Given the description of an element on the screen output the (x, y) to click on. 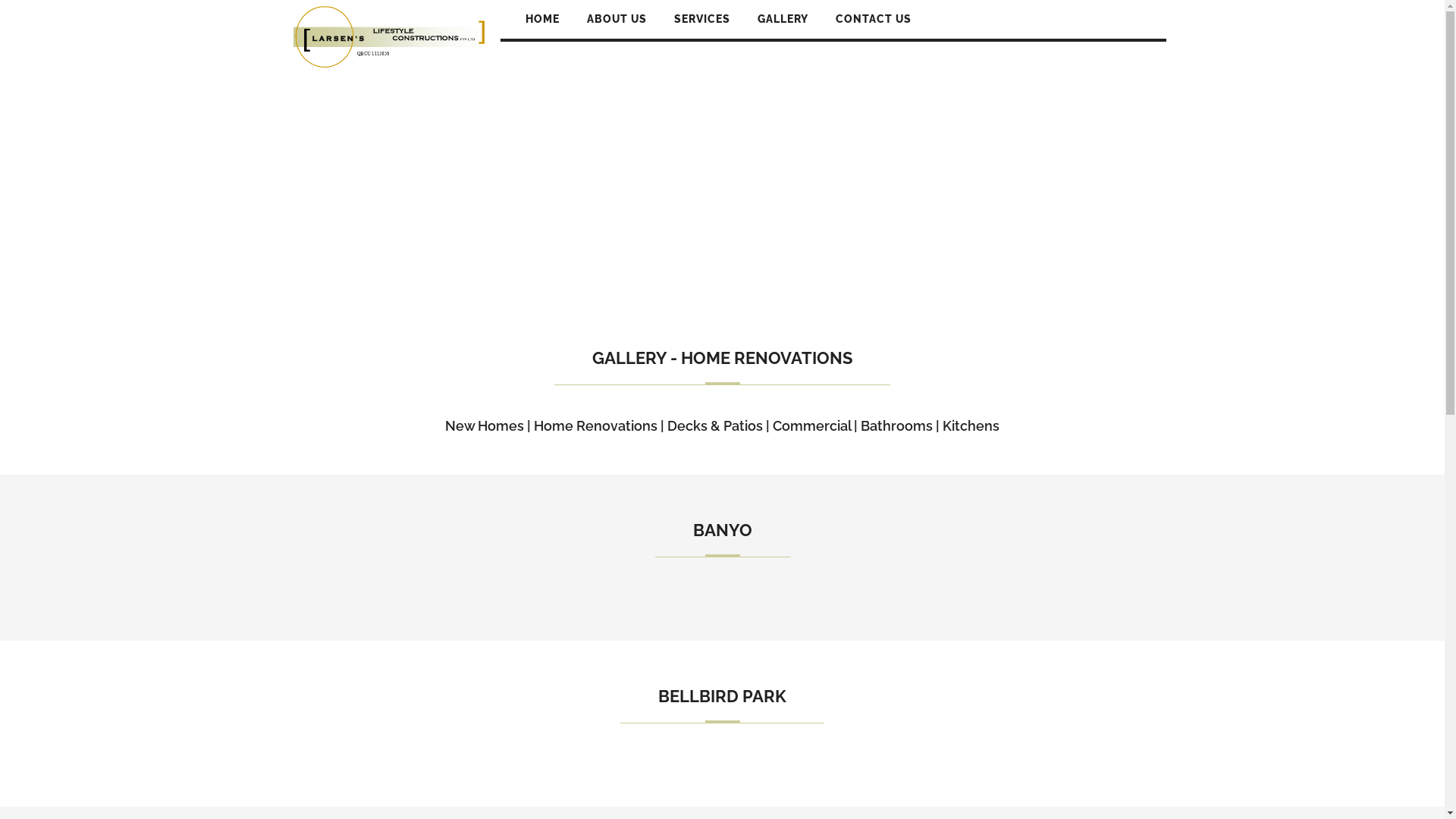
Bathrooms Element type: text (896, 425)
Home Renovations Element type: text (595, 425)
New Homes Element type: text (484, 425)
Kitchens Element type: text (970, 425)
Decks & Patios Element type: text (714, 425)
Commercial Element type: text (811, 425)
